Given the description of an element on the screen output the (x, y) to click on. 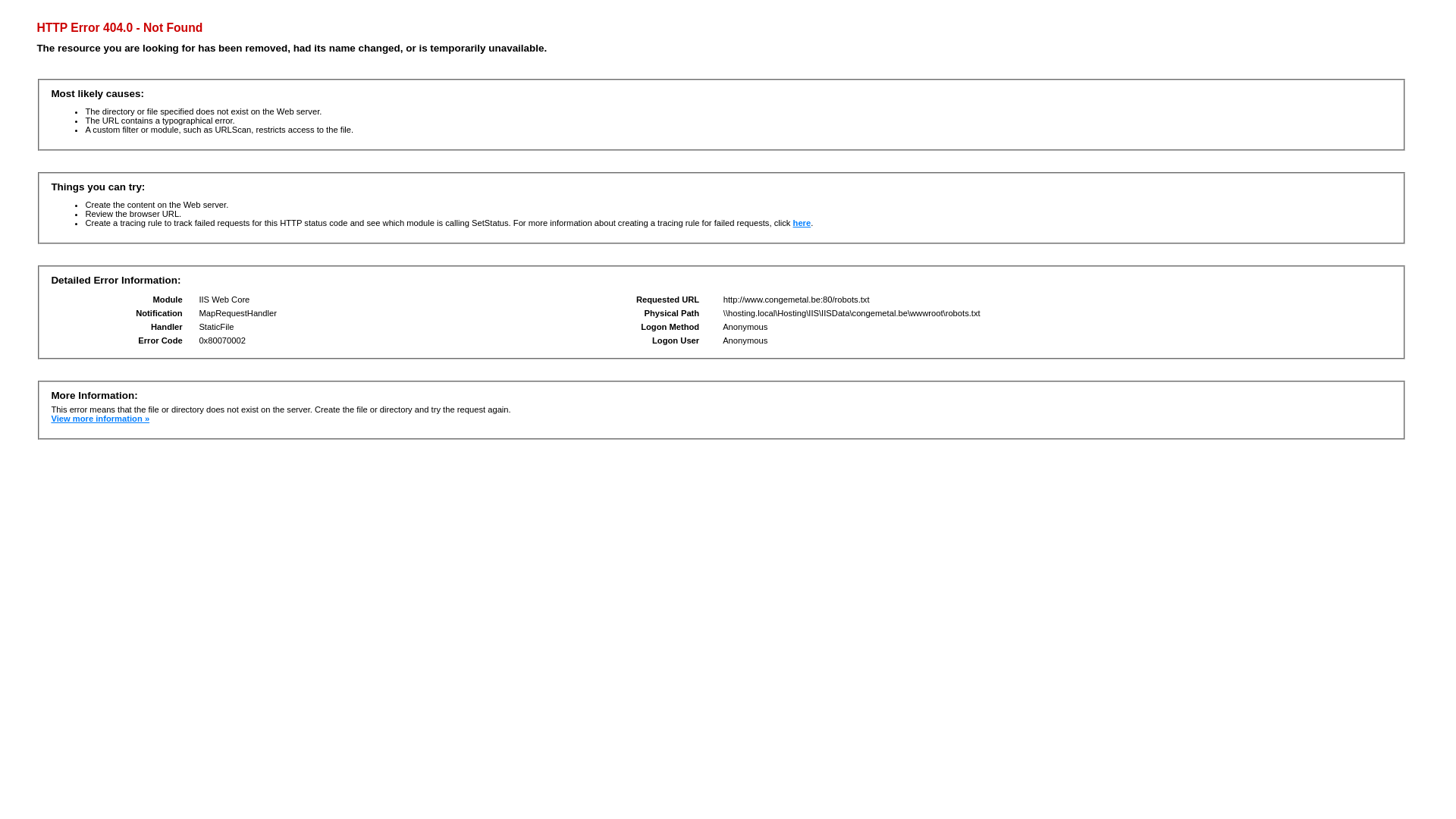
here Element type: text (802, 222)
